Given the description of an element on the screen output the (x, y) to click on. 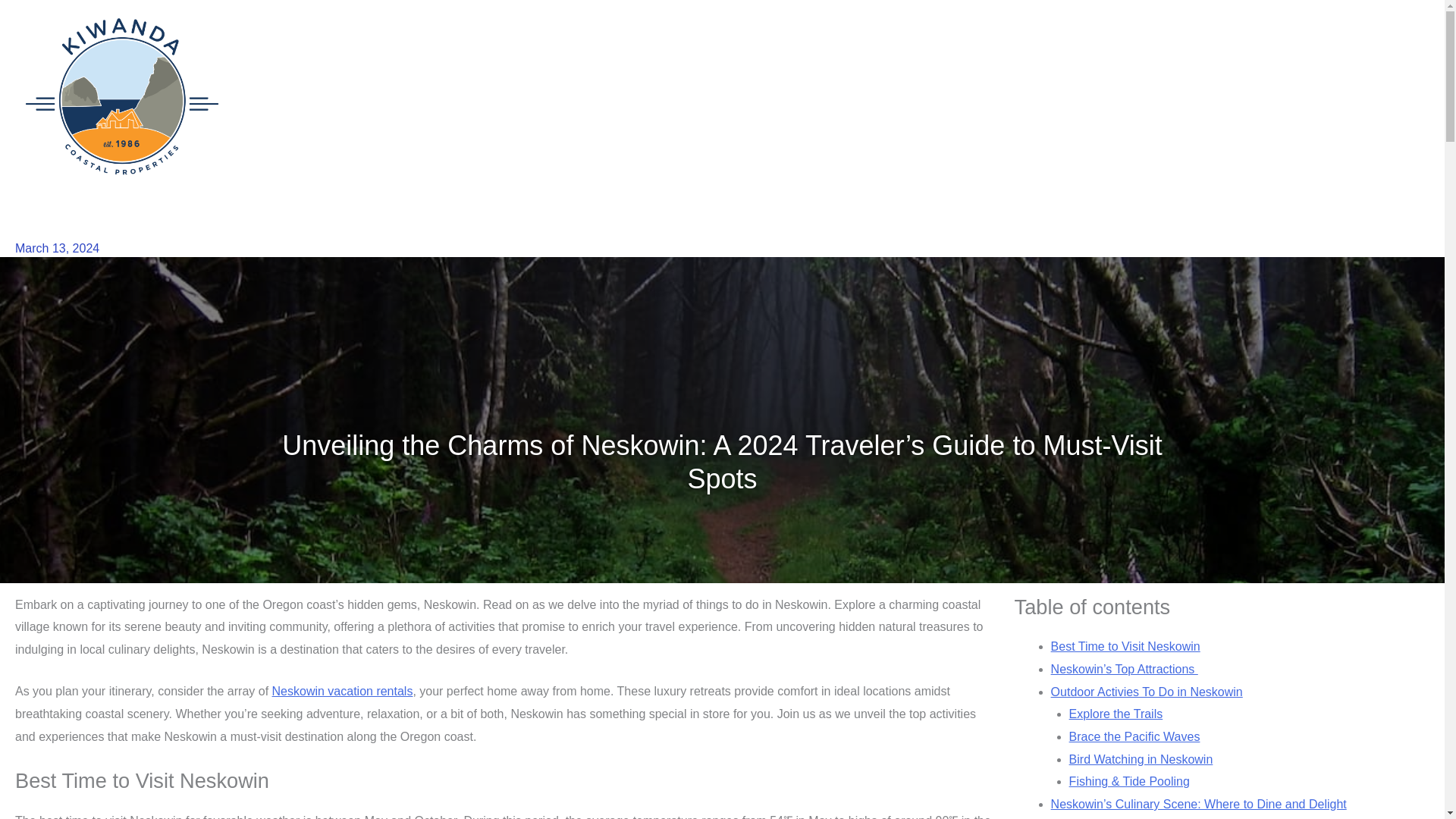
REAL ESTATE SALES (970, 96)
LIST YOUR PROPERTY (1321, 96)
VACATION RENTALS (846, 96)
